Given the description of an element on the screen output the (x, y) to click on. 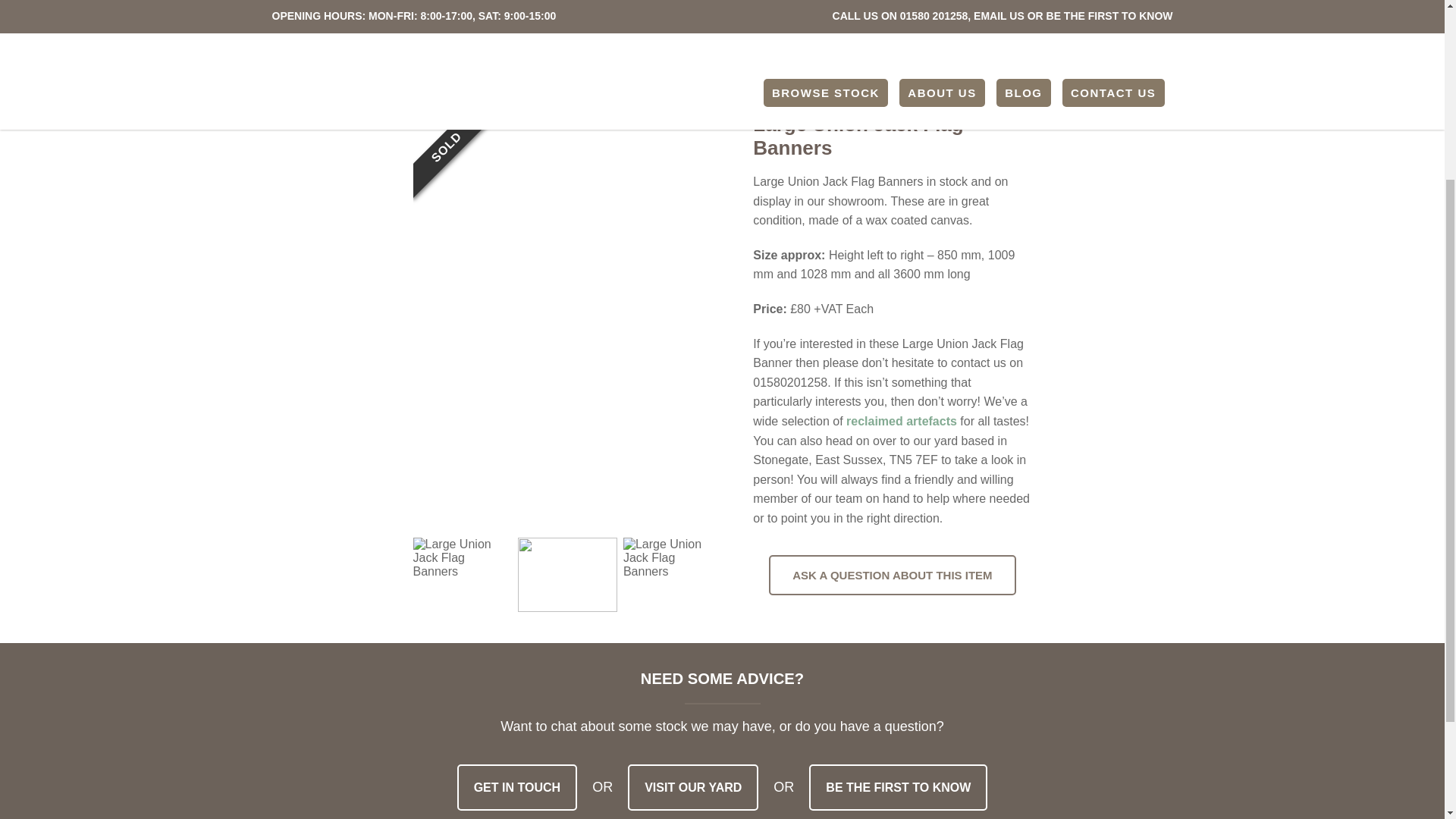
Contact Us (517, 786)
BE THE FIRST TO KNOW (898, 786)
VISIT OUR YARD (692, 786)
How to Find Us (692, 786)
WE ALSO BUY RECLAIMED BUILDING MATERIALS (872, 11)
Contact Us (898, 786)
GET IN TOUCH (517, 786)
Search (292, 7)
reclaimed artefacts (900, 420)
ASK A QUESTION ABOUT THIS ITEM (891, 574)
